Given the description of an element on the screen output the (x, y) to click on. 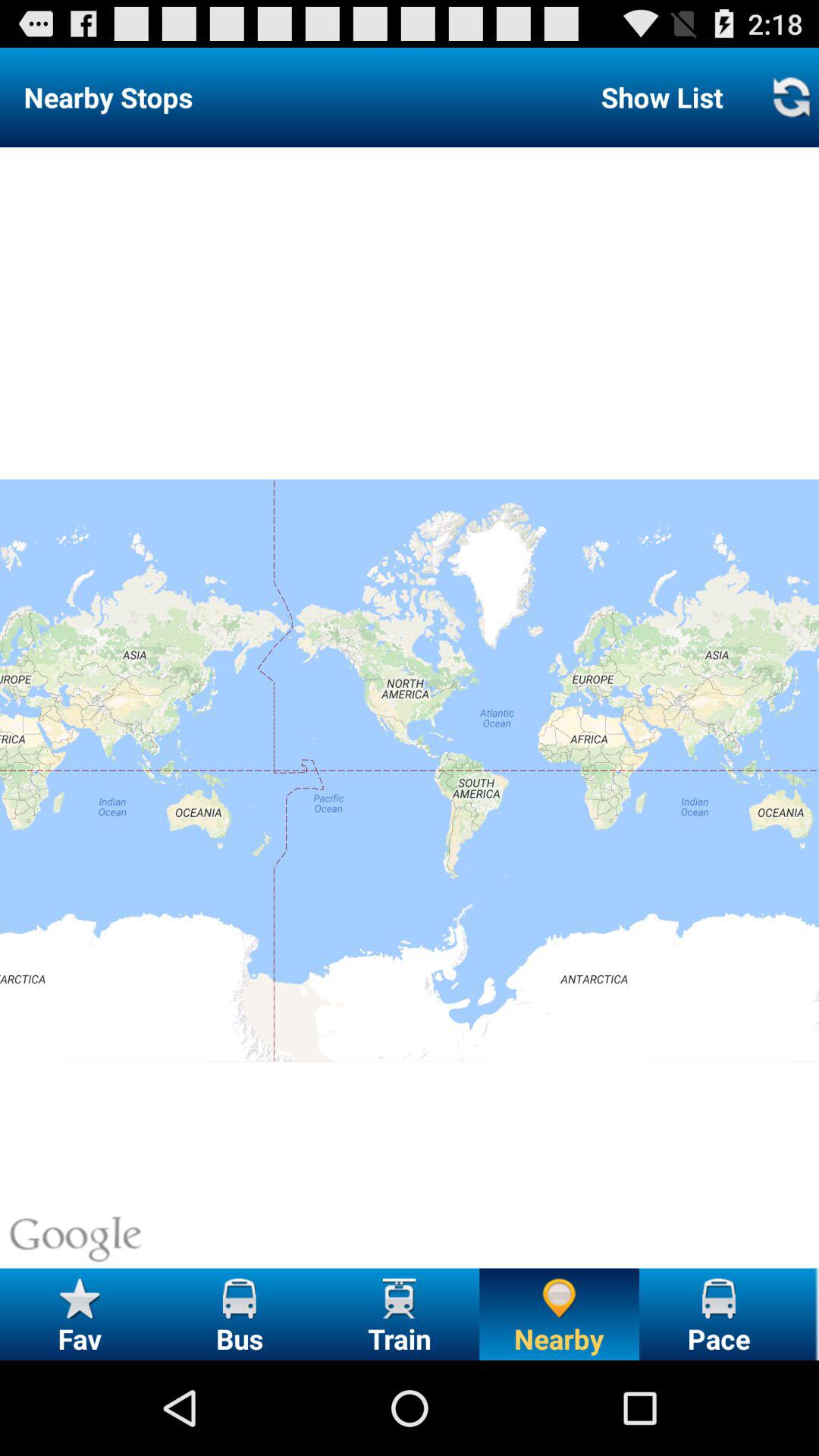
turn off app next to the nearby stops (662, 97)
